Given the description of an element on the screen output the (x, y) to click on. 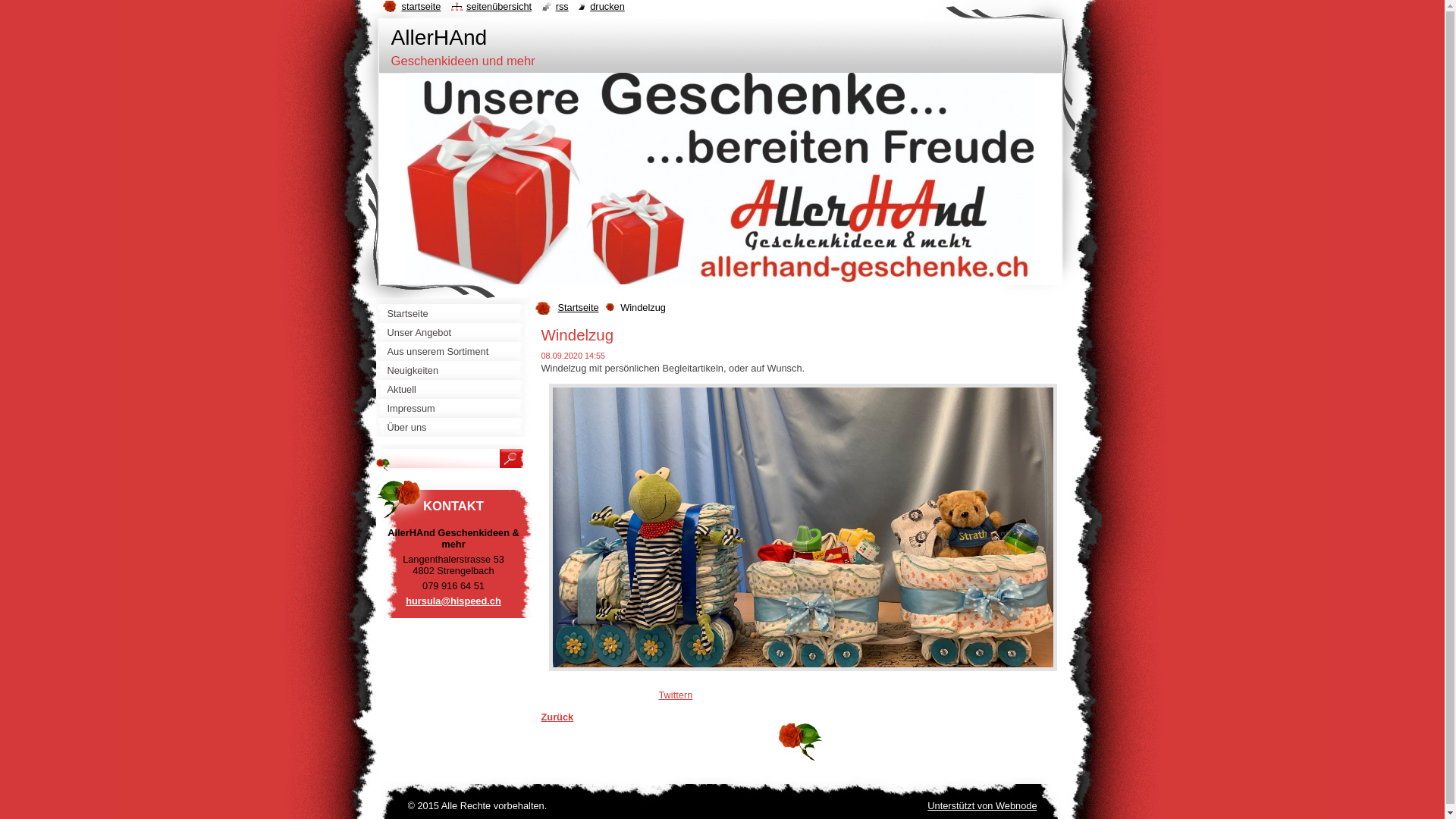
Aktuell Element type: text (453, 388)
Aus unserem Sortiment Element type: text (453, 351)
AllerHAnd Element type: text (439, 37)
Startseite Element type: text (453, 313)
hursula@hispeed.ch Element type: text (453, 600)
Twittern Element type: text (675, 694)
startseite Element type: text (411, 6)
drucken Element type: text (601, 6)
Neuigkeiten Element type: text (453, 369)
Impressum Element type: text (453, 407)
Unser Angebot Element type: text (453, 332)
rss Element type: text (555, 6)
Startseite Element type: text (582, 307)
